Given the description of an element on the screen output the (x, y) to click on. 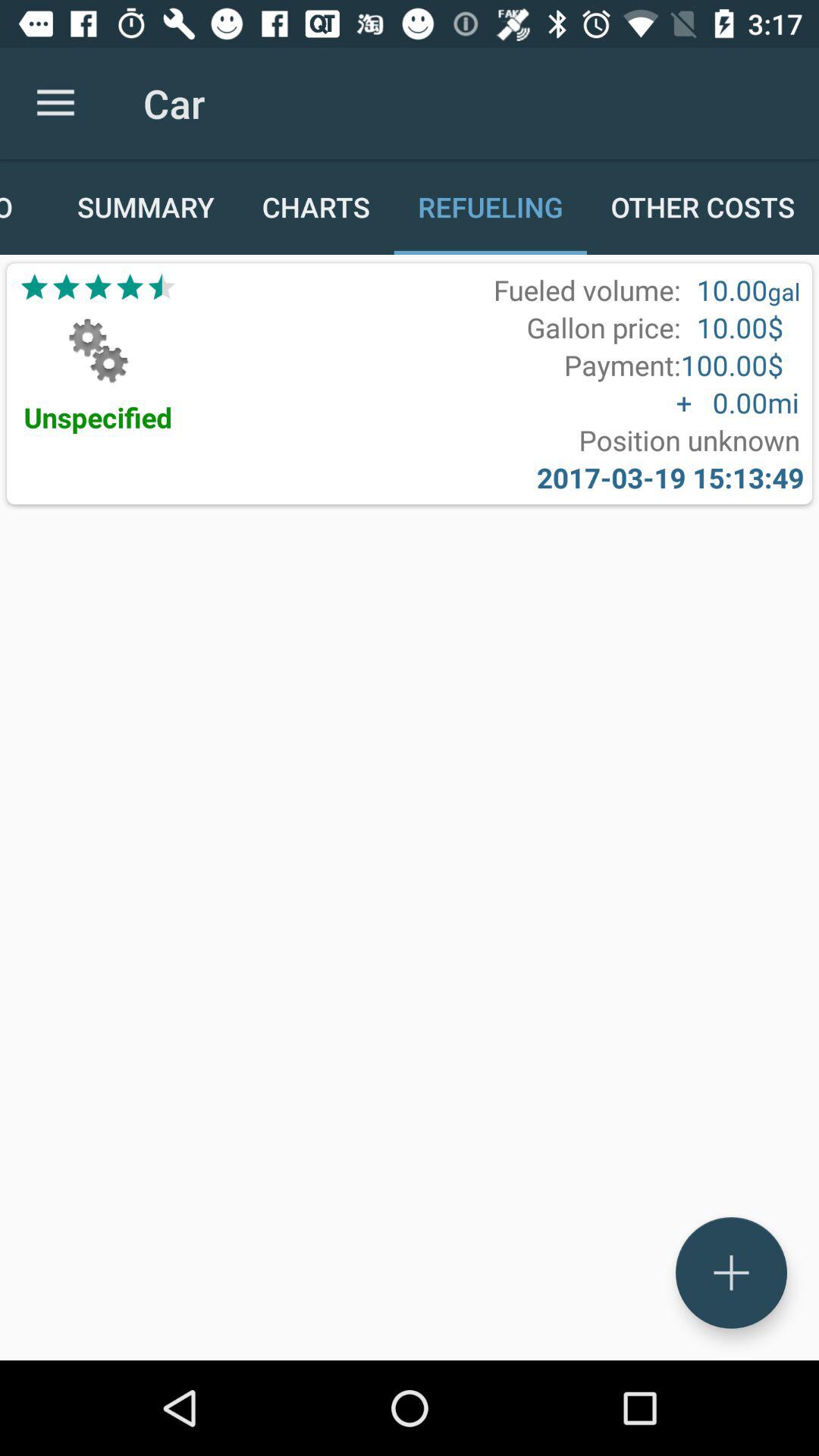
launch icon next to  10.00 item (783, 291)
